Given the description of an element on the screen output the (x, y) to click on. 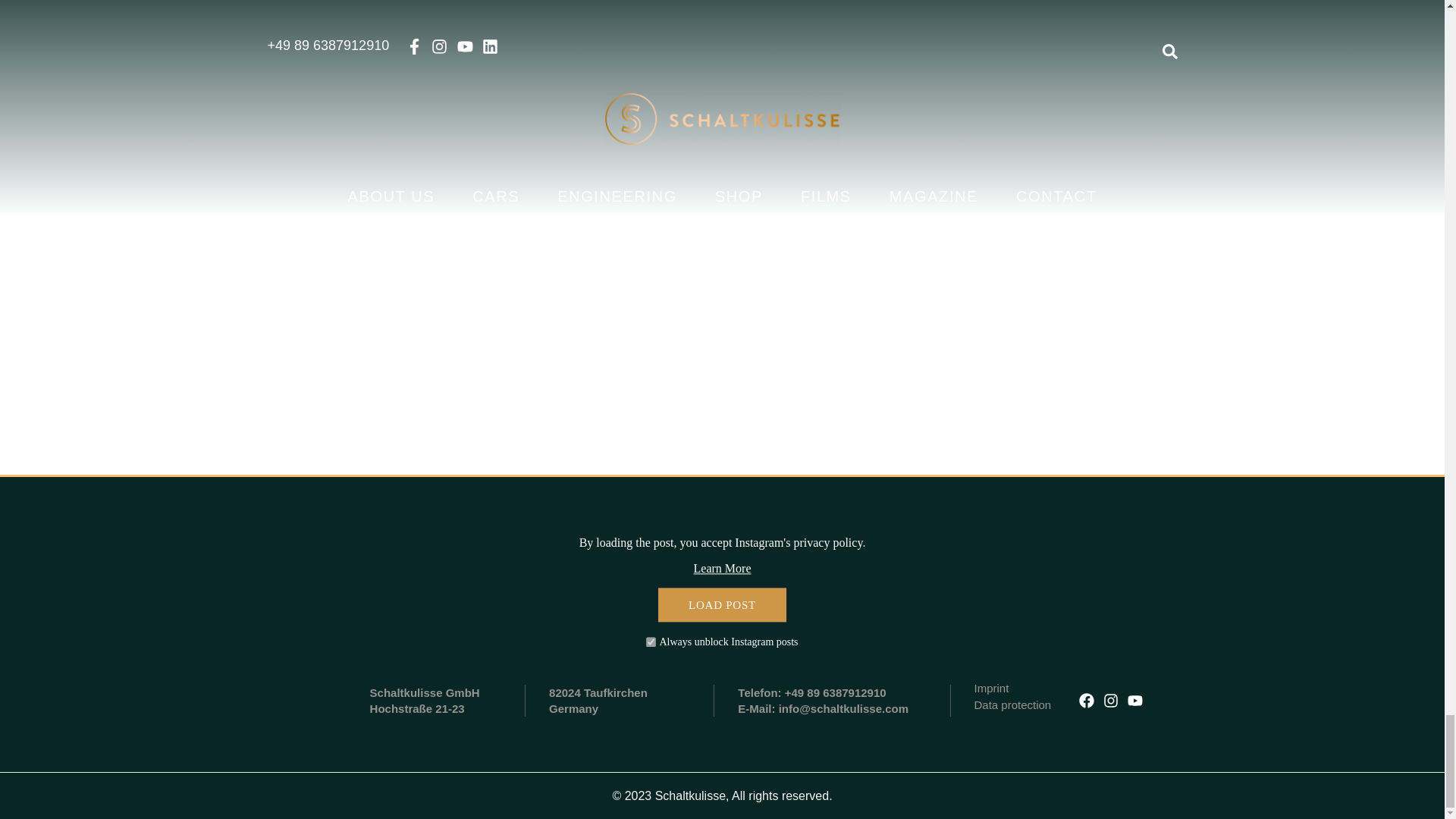
1 (651, 642)
